Given the description of an element on the screen output the (x, y) to click on. 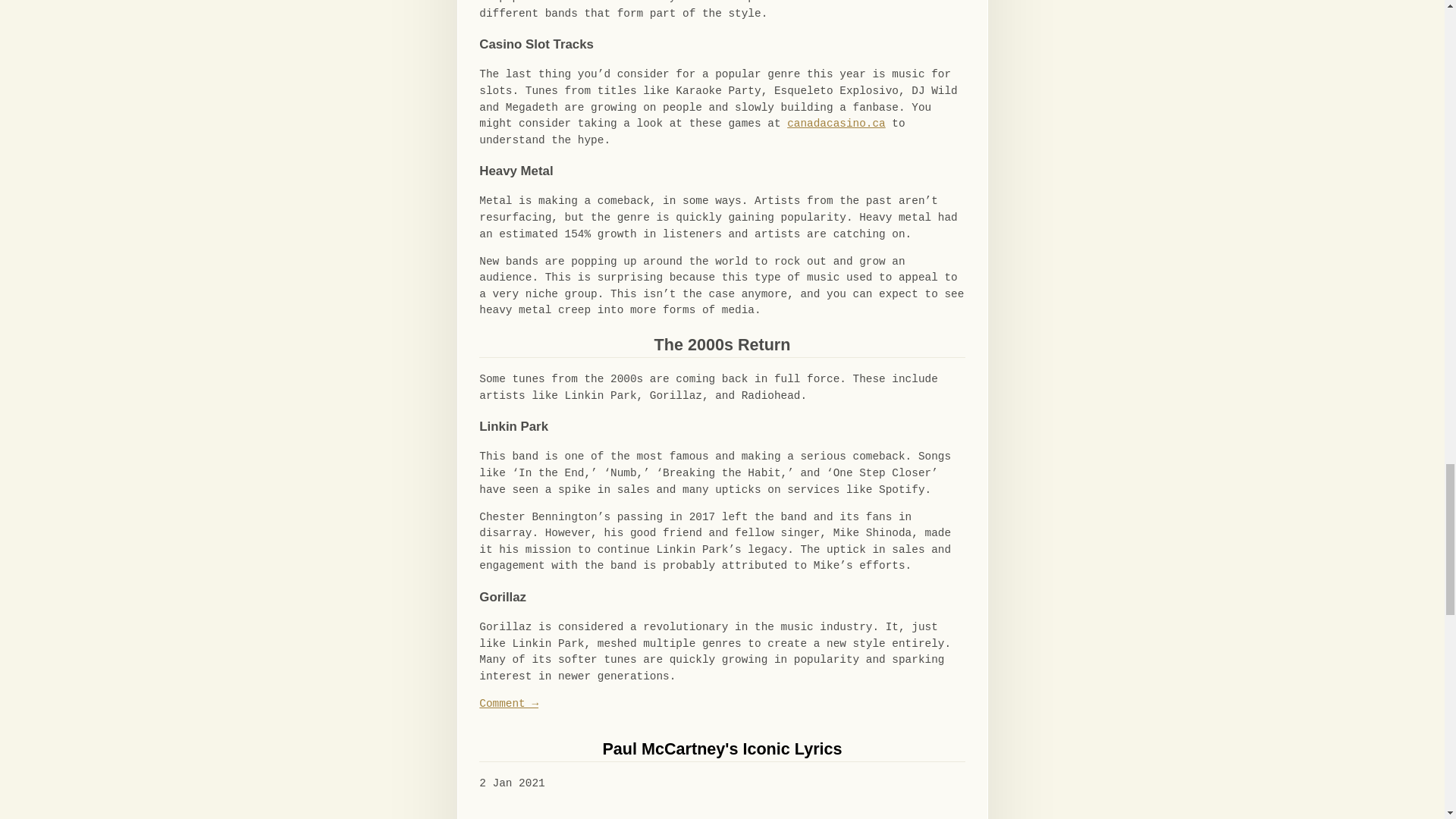
Paul McCartney's Iconic Lyrics (721, 748)
canadacasino.ca (836, 123)
